Given the description of an element on the screen output the (x, y) to click on. 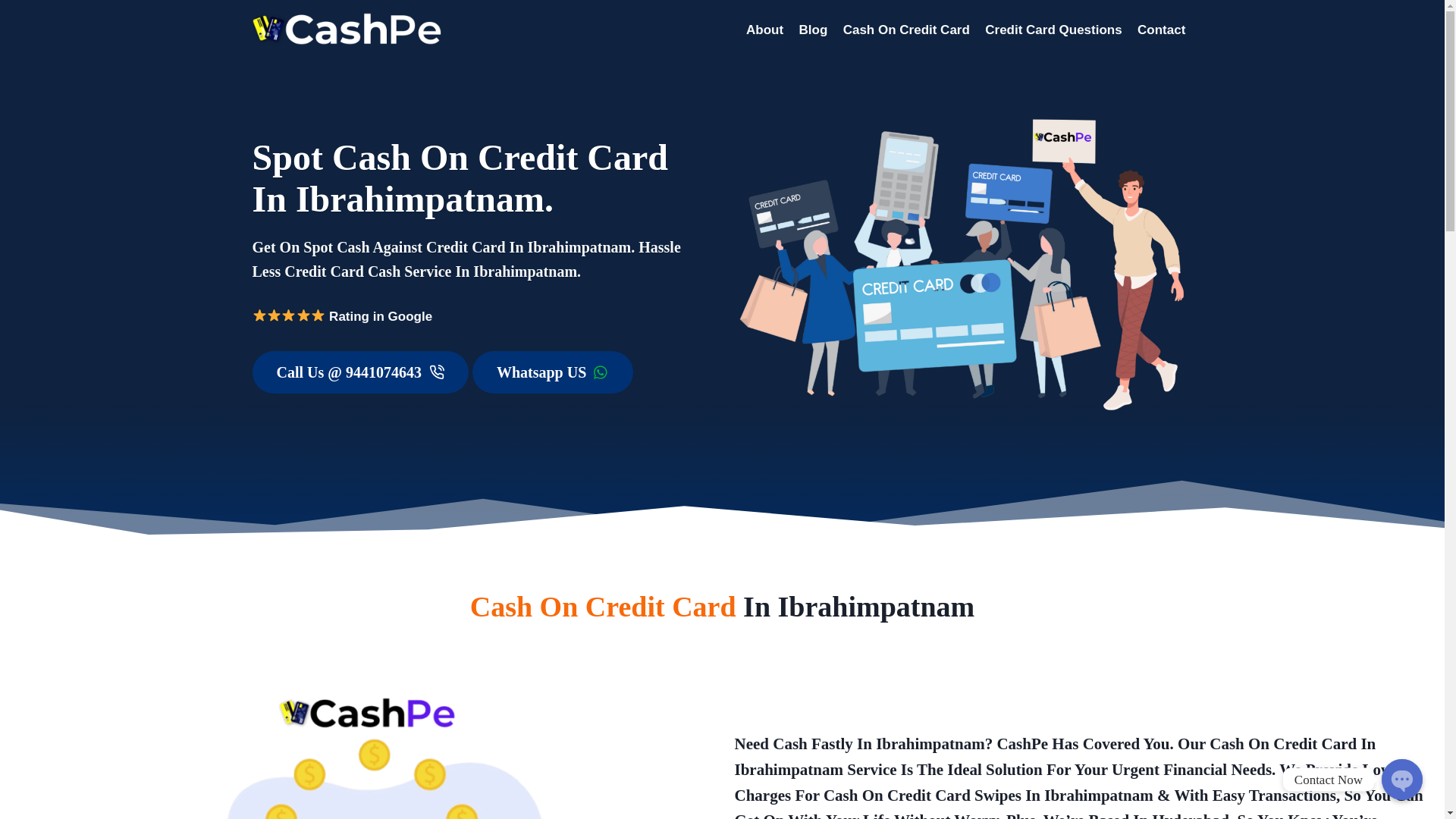
Whatsapp US (552, 372)
Contact (1161, 30)
About (764, 30)
Cash On Credit Card (905, 30)
Blog (812, 30)
Credit Card Questions (1052, 30)
